Given the description of an element on the screen output the (x, y) to click on. 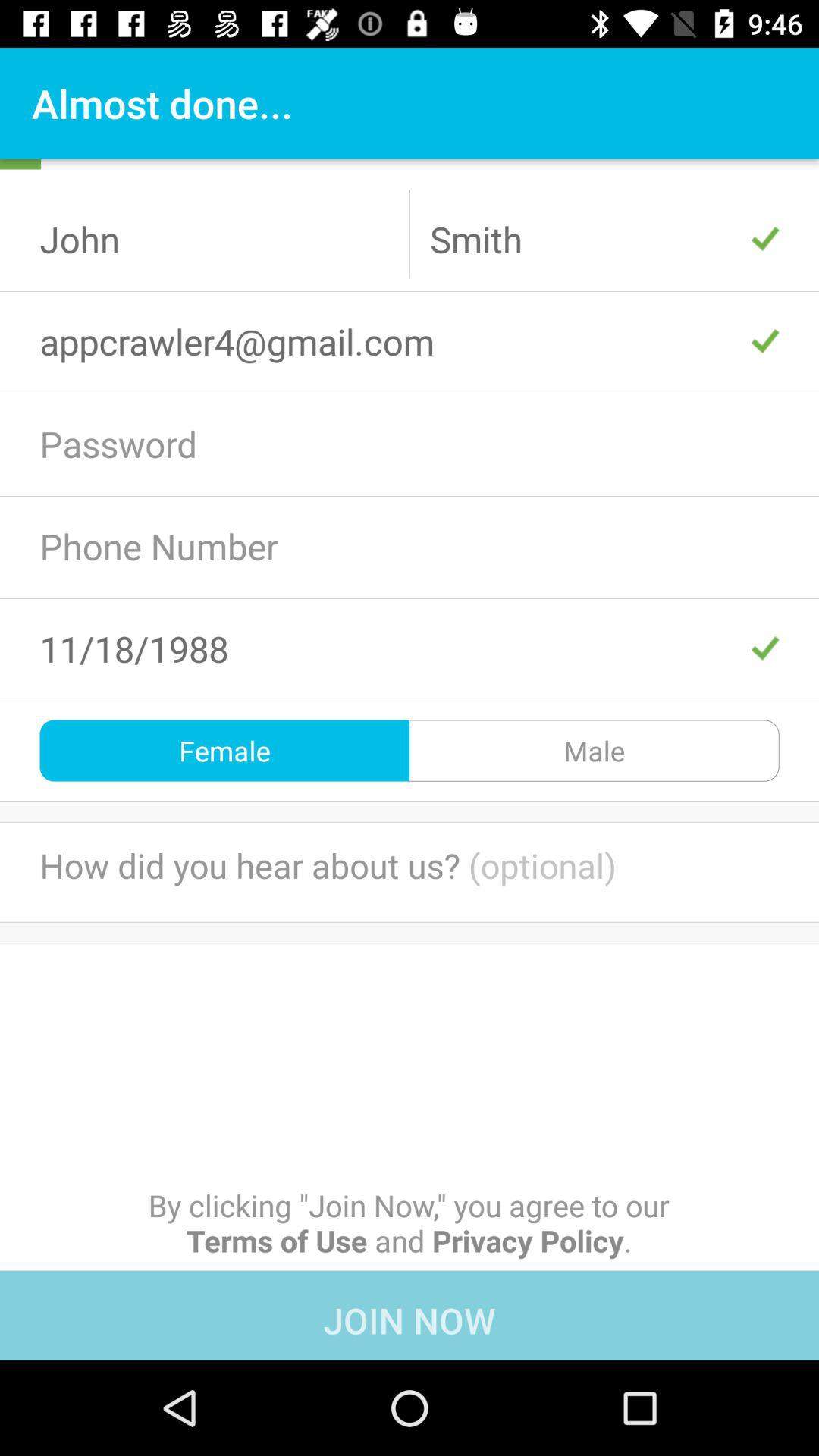
flip until smith item (604, 239)
